Given the description of an element on the screen output the (x, y) to click on. 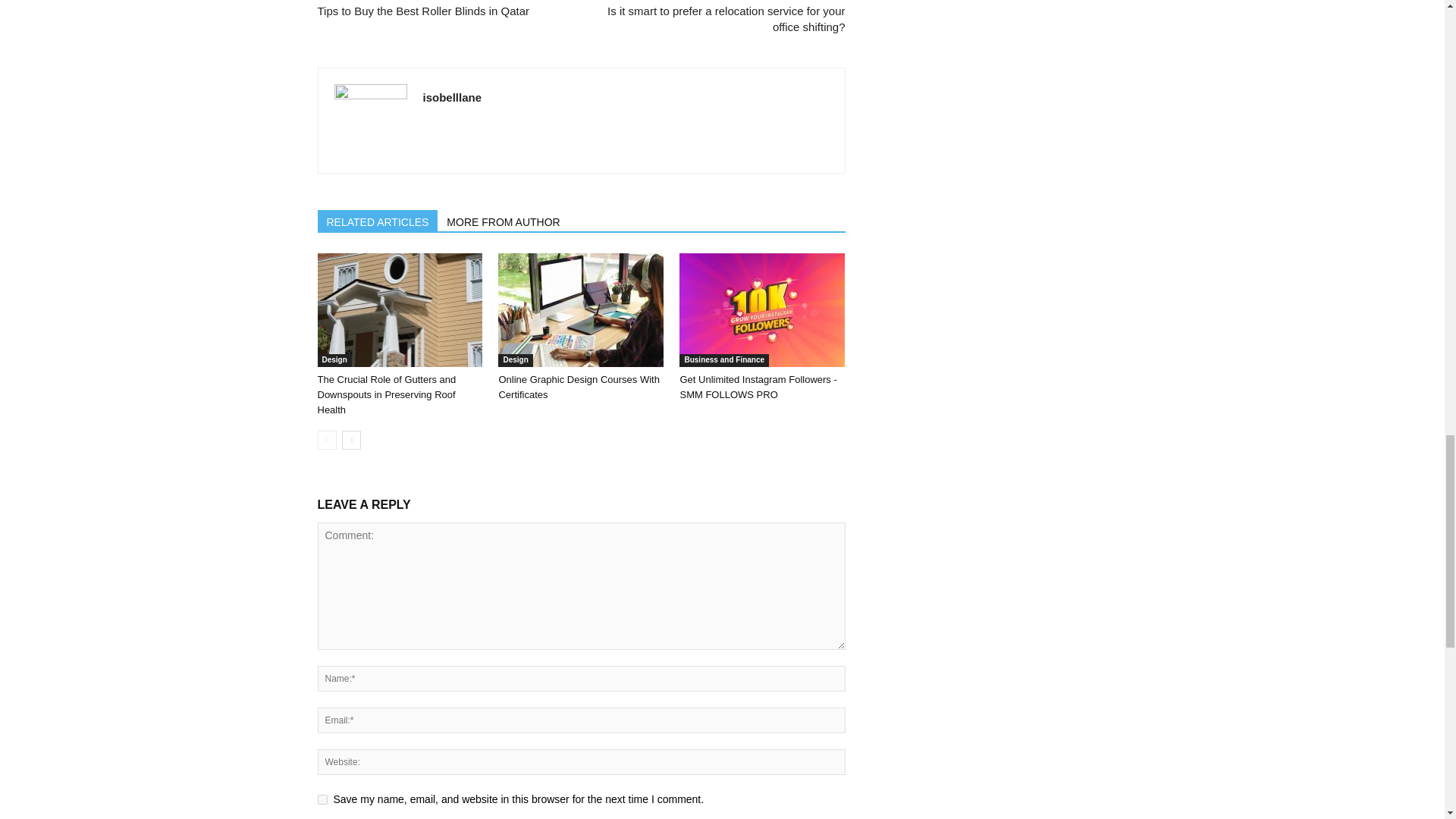
yes (321, 799)
